Given the description of an element on the screen output the (x, y) to click on. 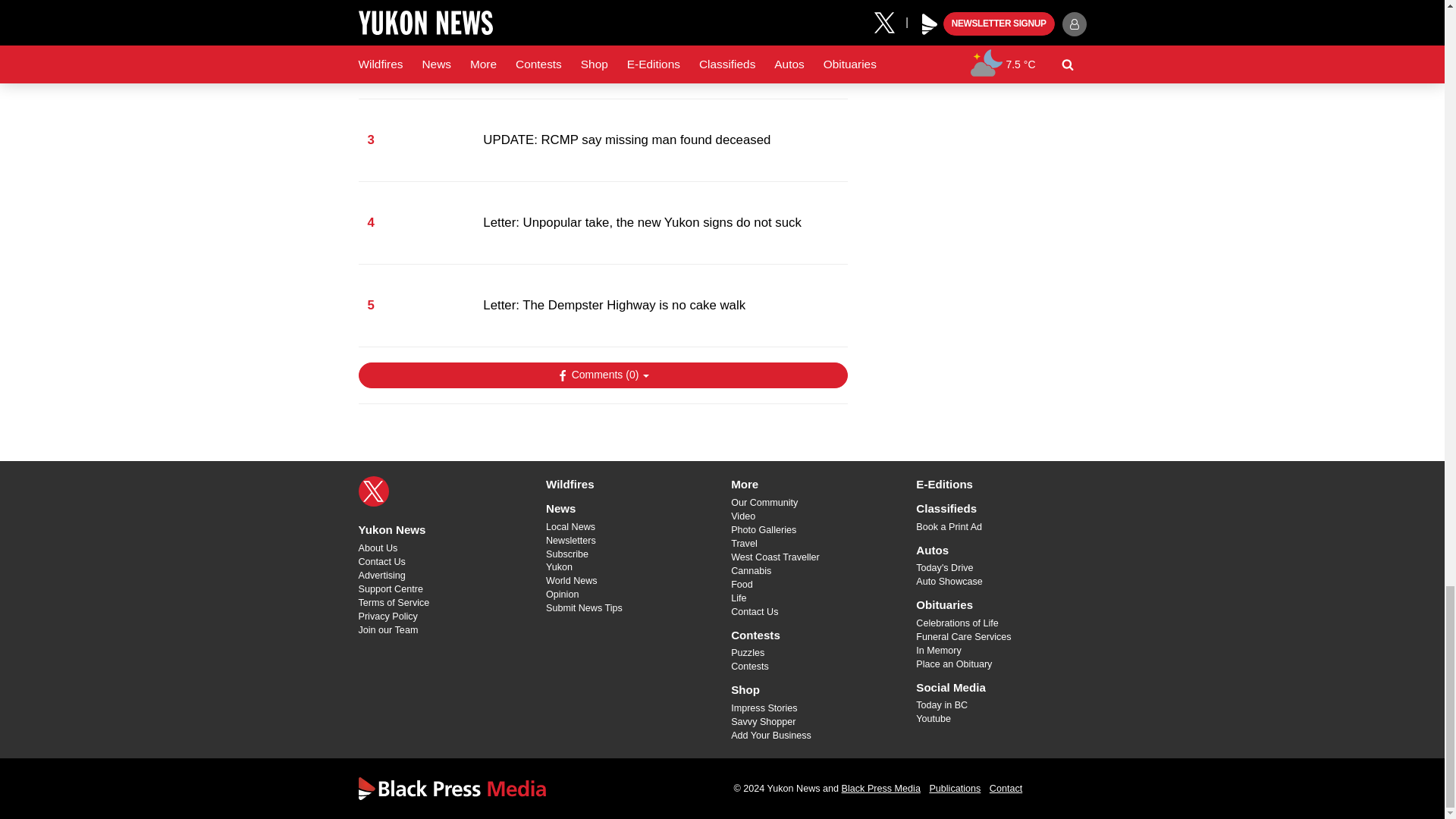
X (373, 490)
Show Comments (602, 375)
